Given the description of an element on the screen output the (x, y) to click on. 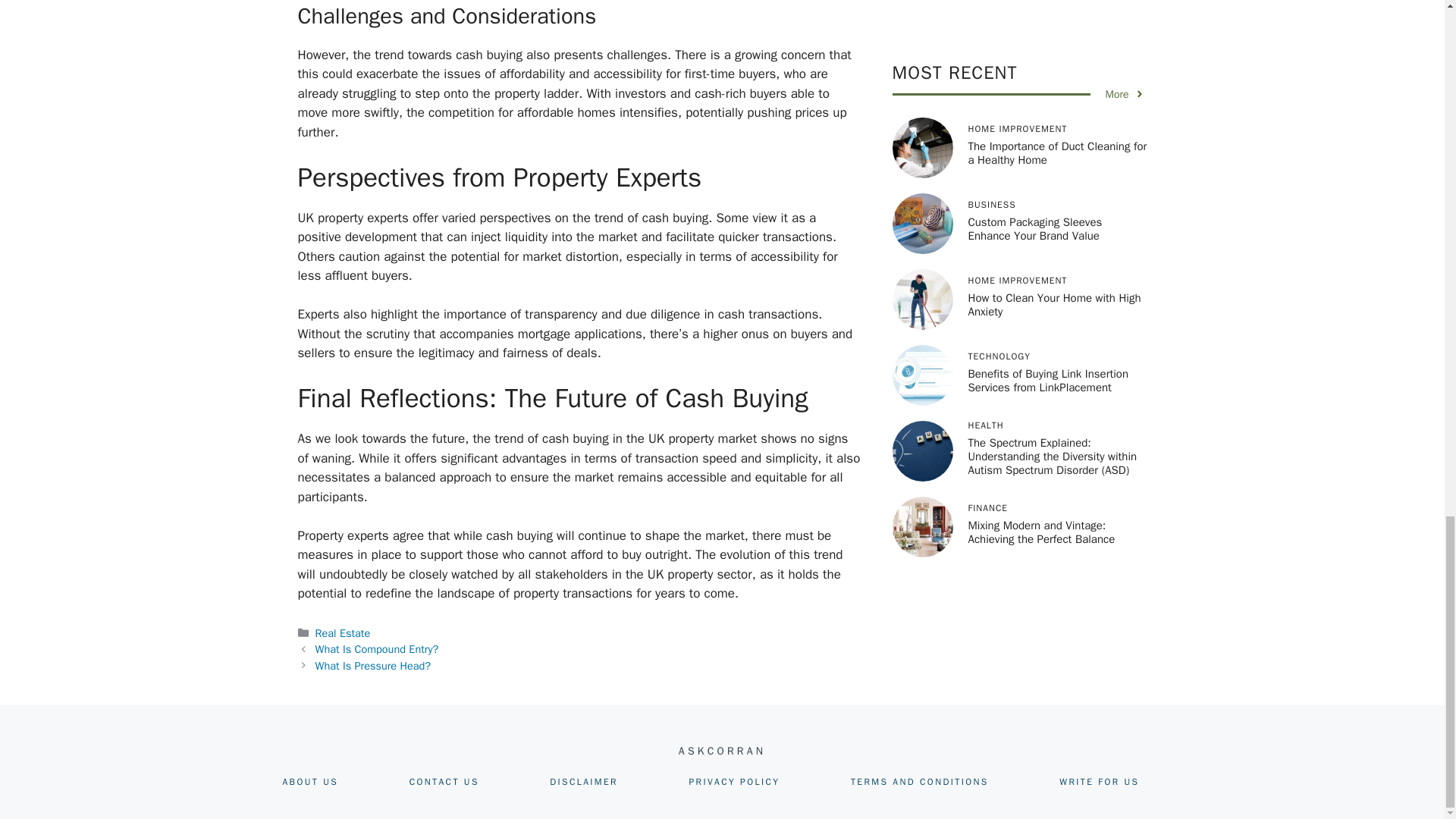
Real Estate (343, 632)
What Is Pressure Head? (372, 665)
What Is Compound Entry? (377, 649)
